Given the description of an element on the screen output the (x, y) to click on. 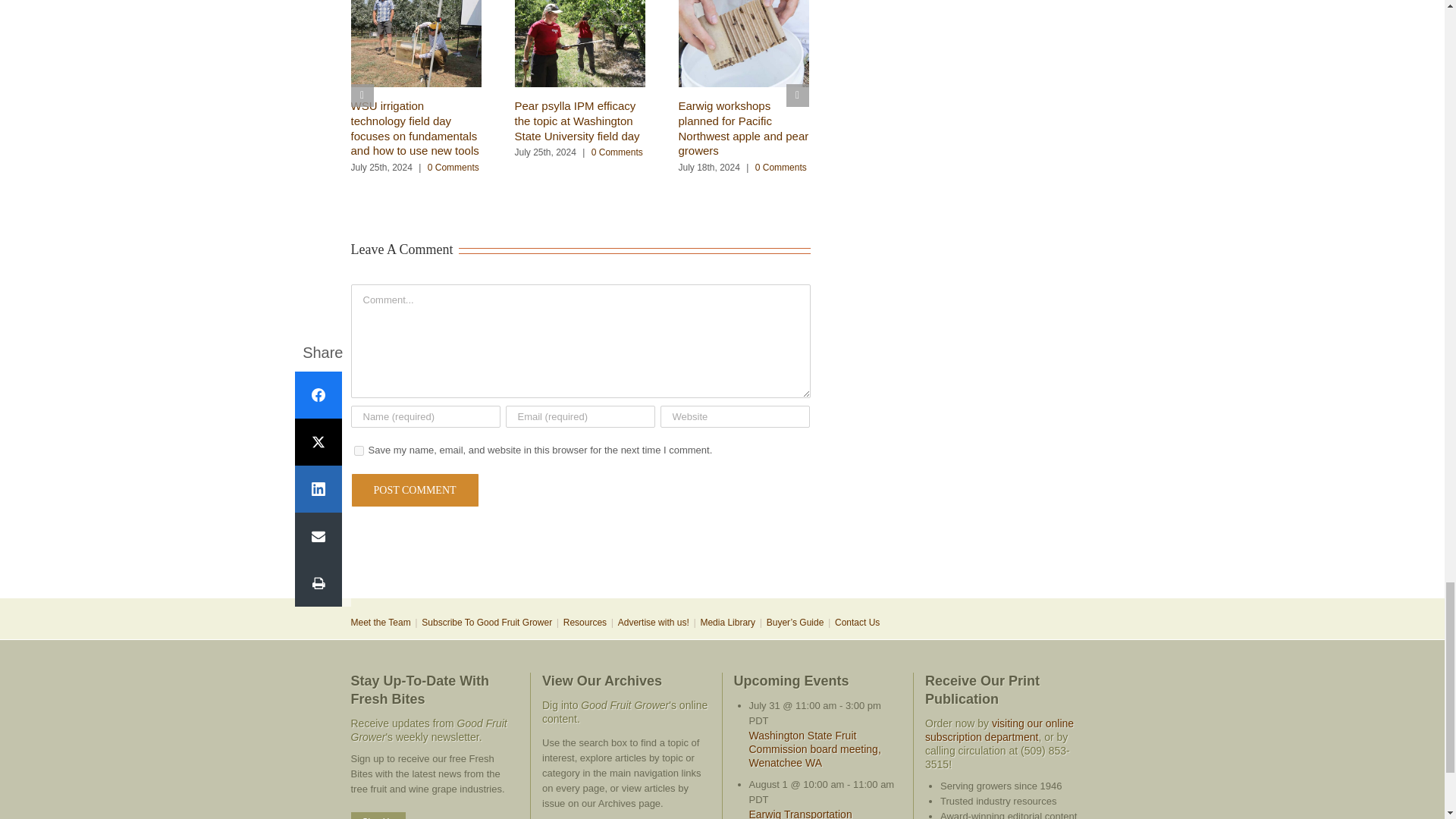
yes (357, 450)
Post Comment (414, 489)
3rd party ad content (721, 547)
